Given the description of an element on the screen output the (x, y) to click on. 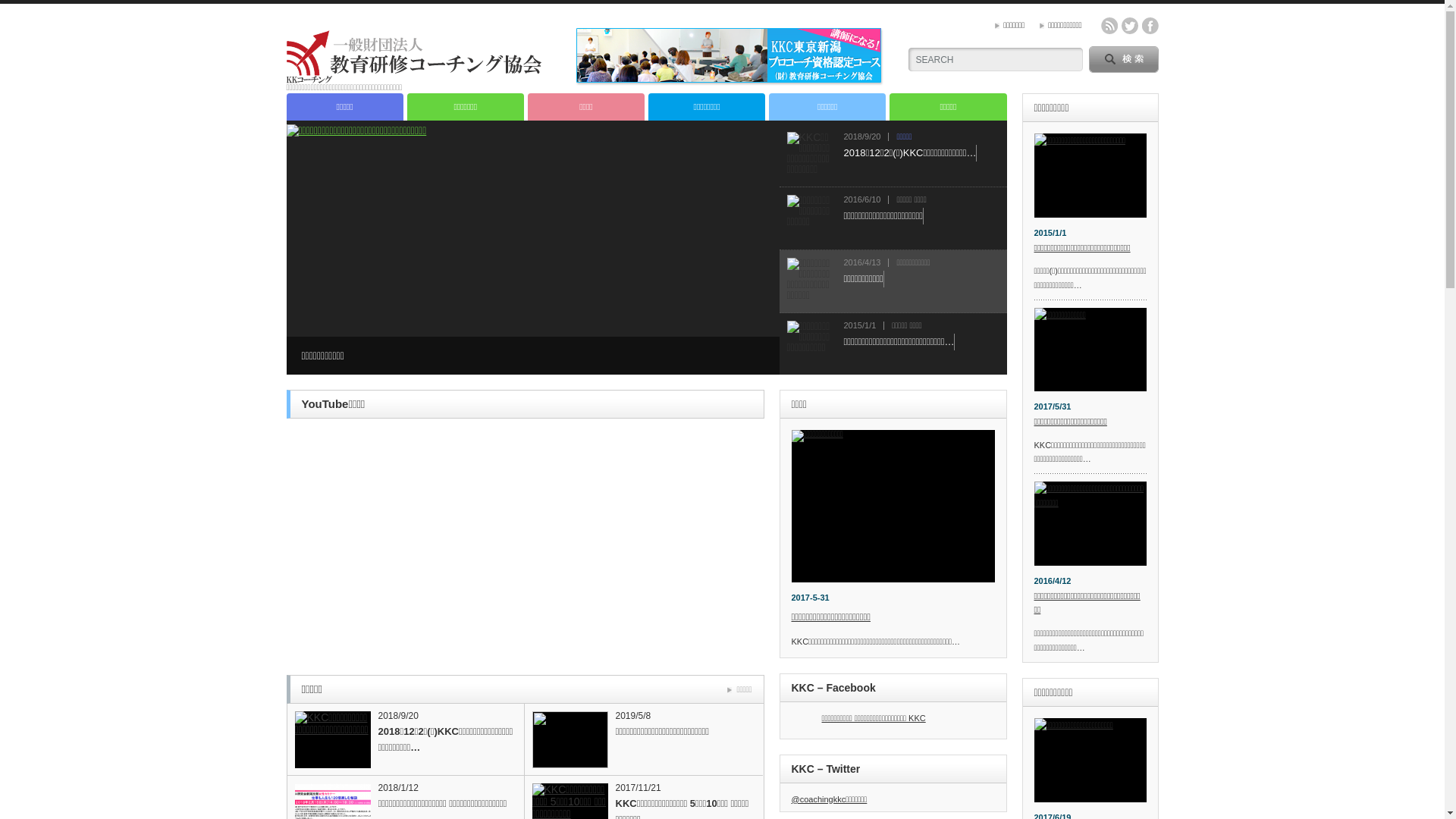
SEARCH Element type: text (1123, 59)
twitter Element type: text (1128, 25)
facebook Element type: text (1150, 25)
rss Element type: text (1109, 25)
